Given the description of an element on the screen output the (x, y) to click on. 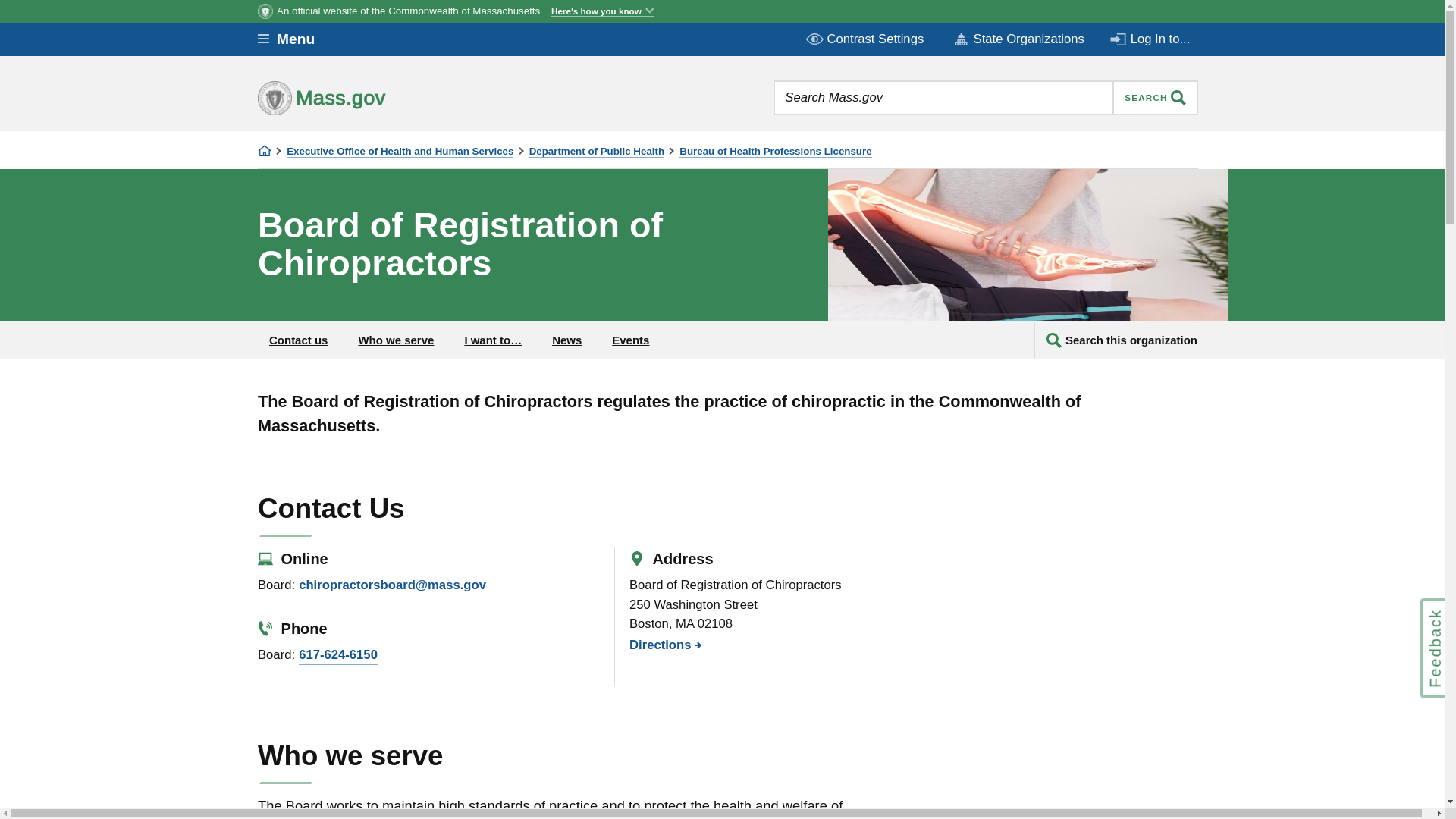
State Organizations (1018, 39)
Log In to... (1151, 38)
Mass.gov home page (369, 97)
directions (660, 645)
Contrast Settings (866, 38)
Menu (297, 39)
